Given the description of an element on the screen output the (x, y) to click on. 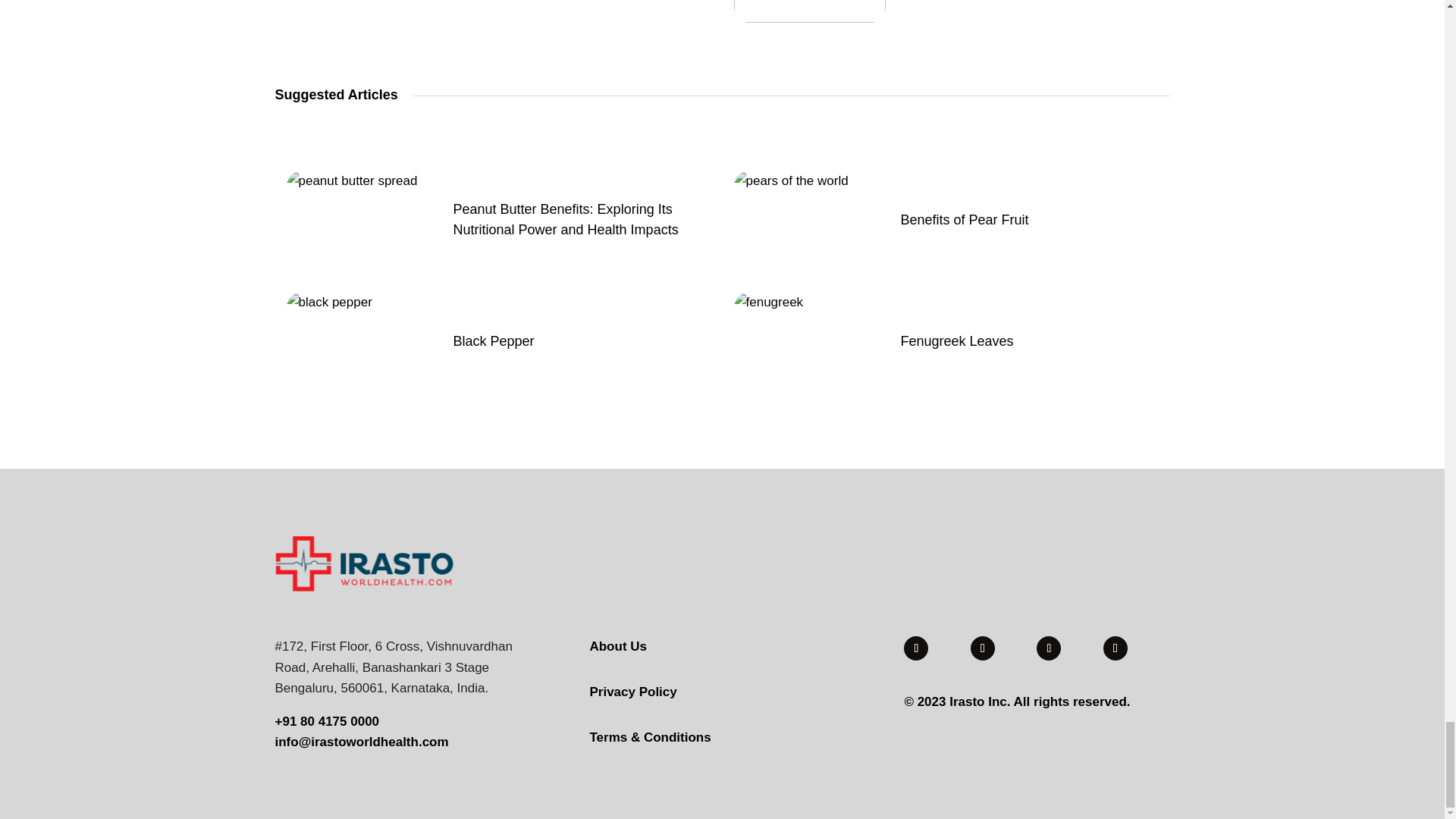
Follow on Facebook (982, 648)
Follow on X (1048, 648)
Irasto-logo (363, 563)
Follow on Youtube (916, 648)
Follow on Pinterest (1114, 648)
